Given the description of an element on the screen output the (x, y) to click on. 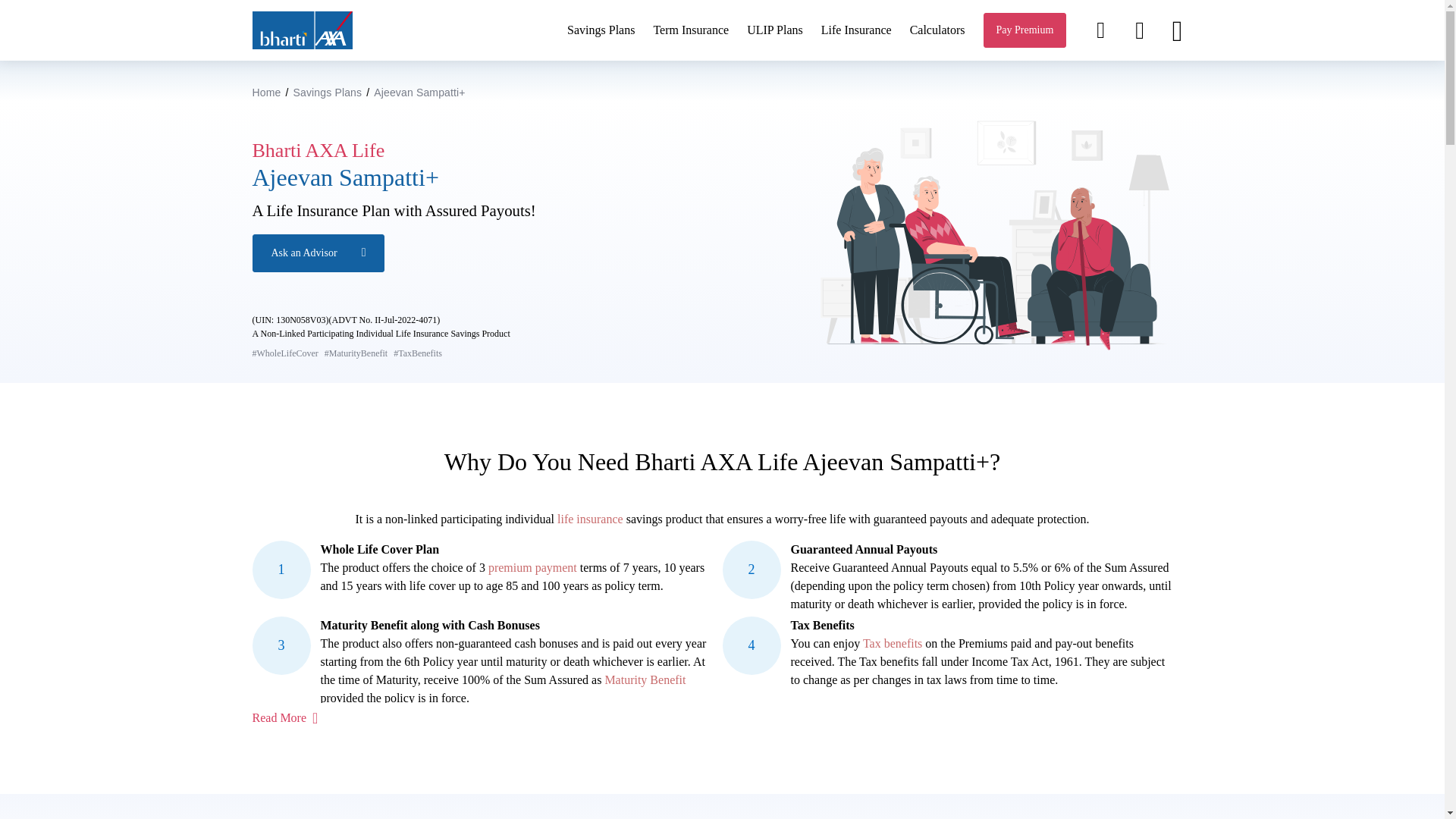
Pay Premium (1025, 30)
Maturity Benefit (644, 679)
Savings Plans (326, 92)
Bharti AXA Life Insurance Logo (301, 30)
Tax benefits (892, 643)
Calculators (937, 30)
Home (266, 92)
Term Insurance (690, 30)
Life Insurance (856, 30)
Read More (284, 717)
